Given the description of an element on the screen output the (x, y) to click on. 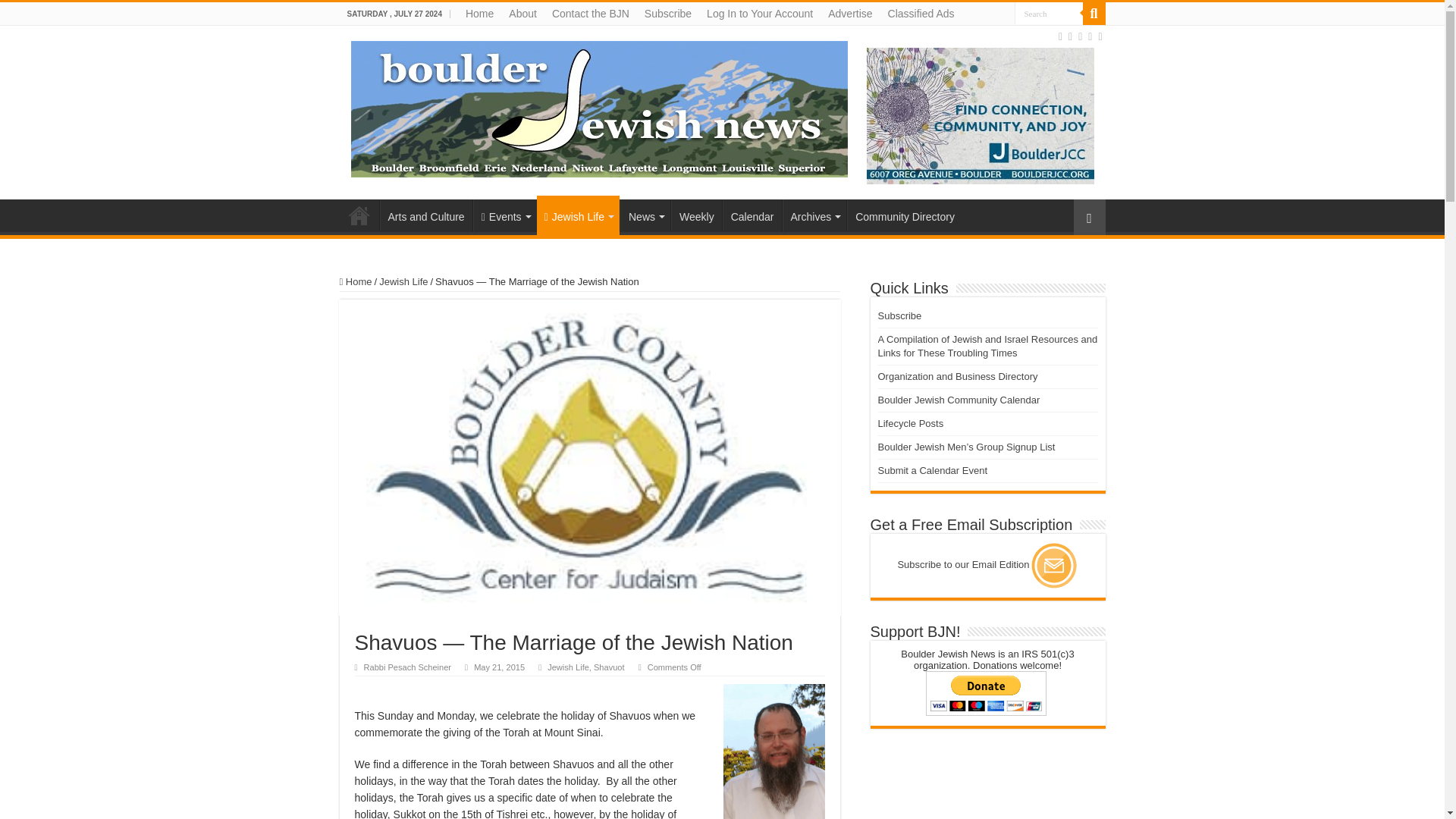
Contact the BJN (590, 13)
Search (1048, 13)
Boulder Jewish News (598, 105)
About (522, 13)
Home (479, 13)
Subscribe (667, 13)
Search (1048, 13)
Search (1094, 13)
Advertise (850, 13)
Search (1048, 13)
Log In to Your Account (759, 13)
Classified Ads (921, 13)
